Given the description of an element on the screen output the (x, y) to click on. 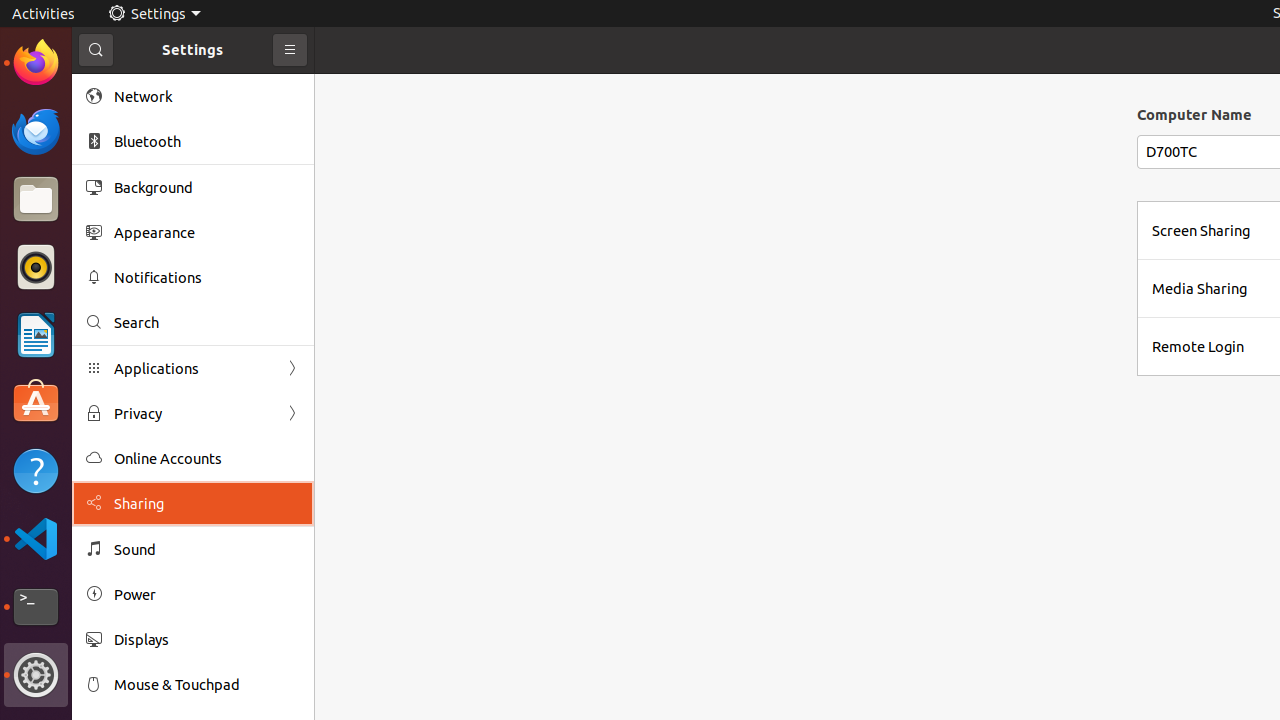
IsaHelpMain.desktop Element type: label (133, 300)
Media Sharing Element type: label (1199, 288)
Displays Element type: label (207, 639)
Sound Element type: label (207, 549)
